Given the description of an element on the screen output the (x, y) to click on. 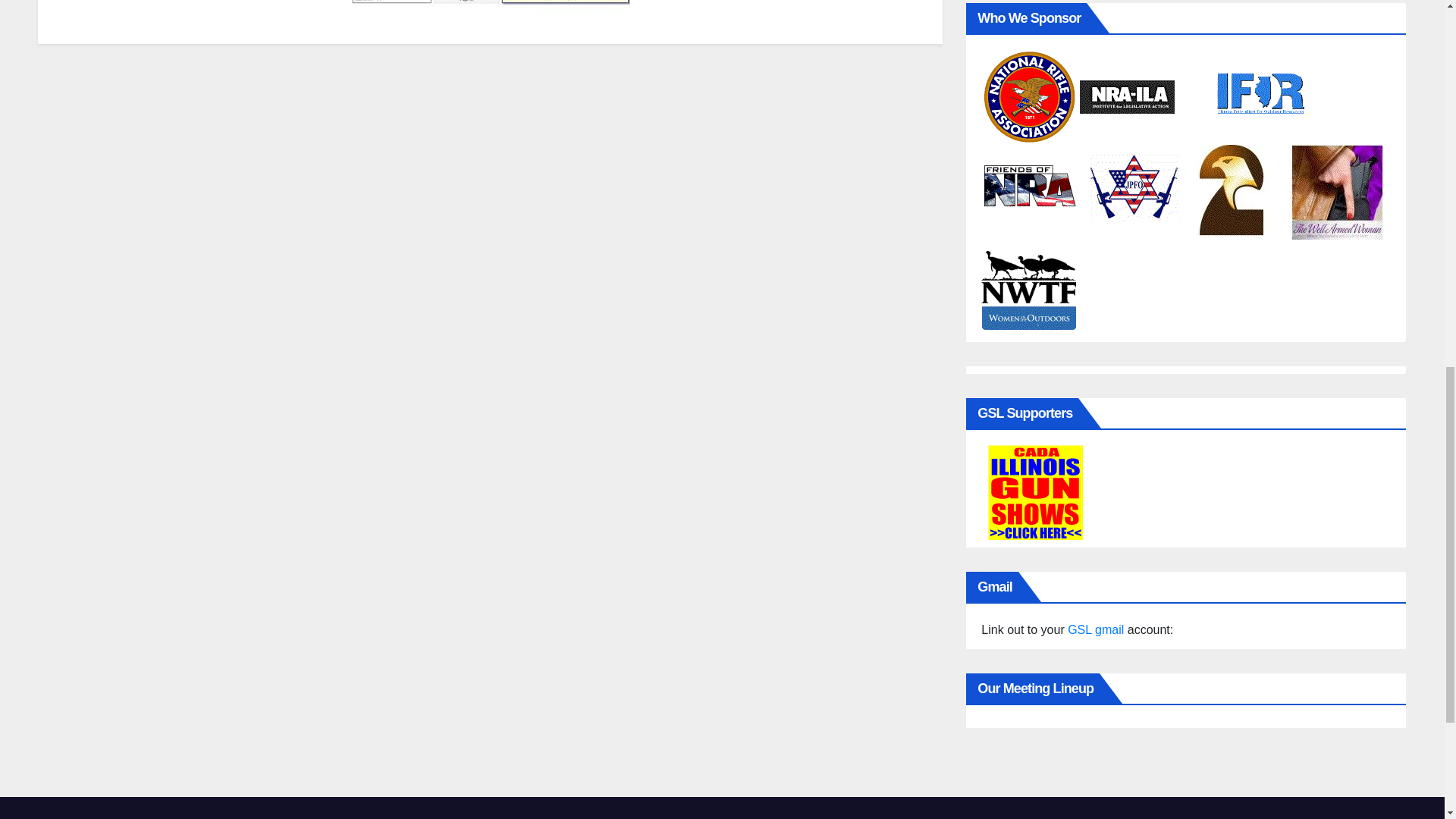
GSL gmail (1095, 629)
